Given the description of an element on the screen output the (x, y) to click on. 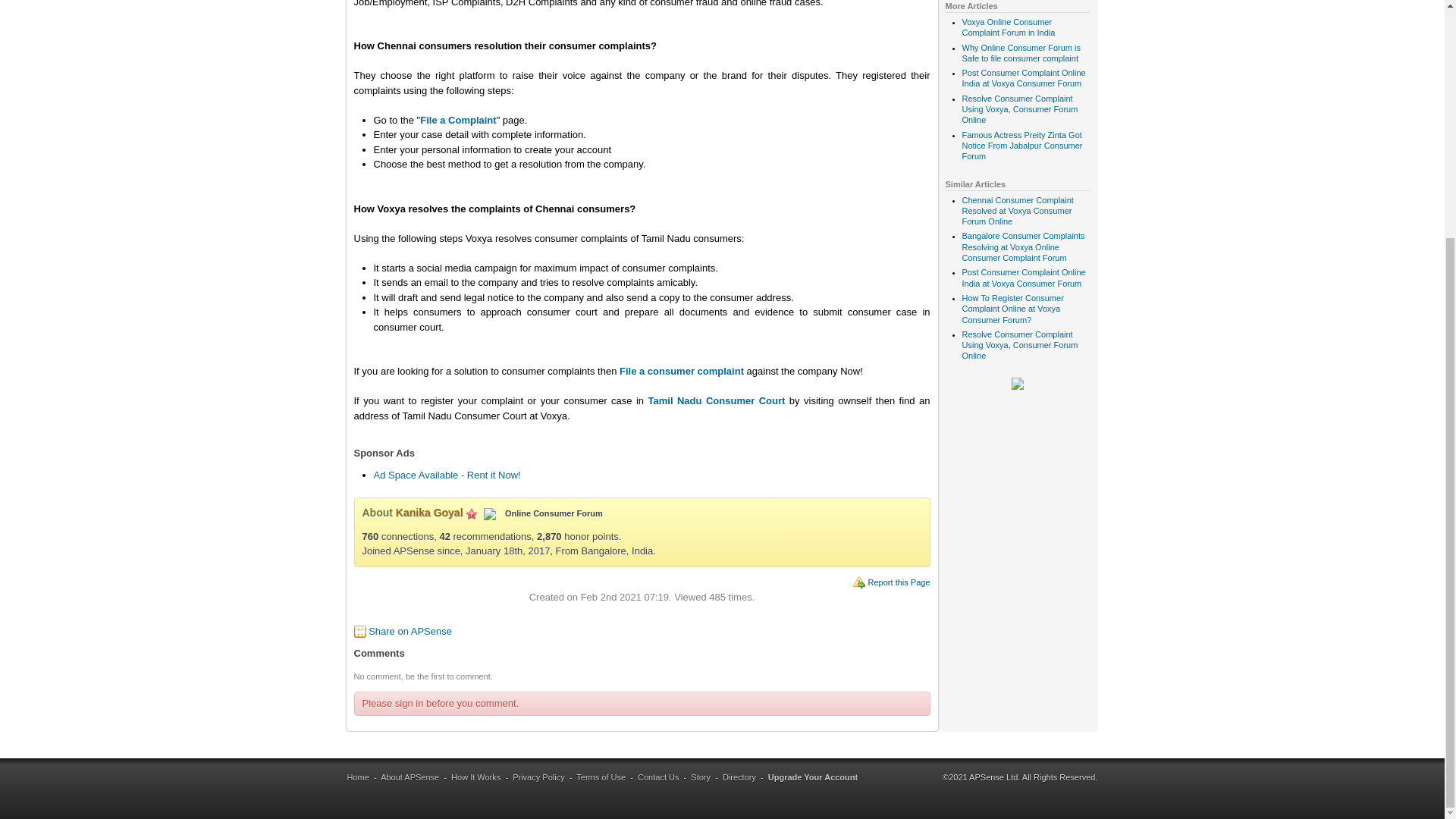
Professional (471, 513)
Share on APSense (409, 631)
Post Consumer Complaint Online India at Voxya Consumer Forum (1022, 77)
Voxya Online Consumer Complaint Forum in India (1007, 26)
File a Complaint (458, 120)
Report this Page (898, 582)
Ad Space Available - Rent it Now! (445, 474)
Why Online Consumer Forum is Safe to file consumer complaint (1020, 53)
Join APSense Social Network (1017, 386)
Post Consumer Complaint Online India at Voxya Consumer Forum (1022, 277)
